Given the description of an element on the screen output the (x, y) to click on. 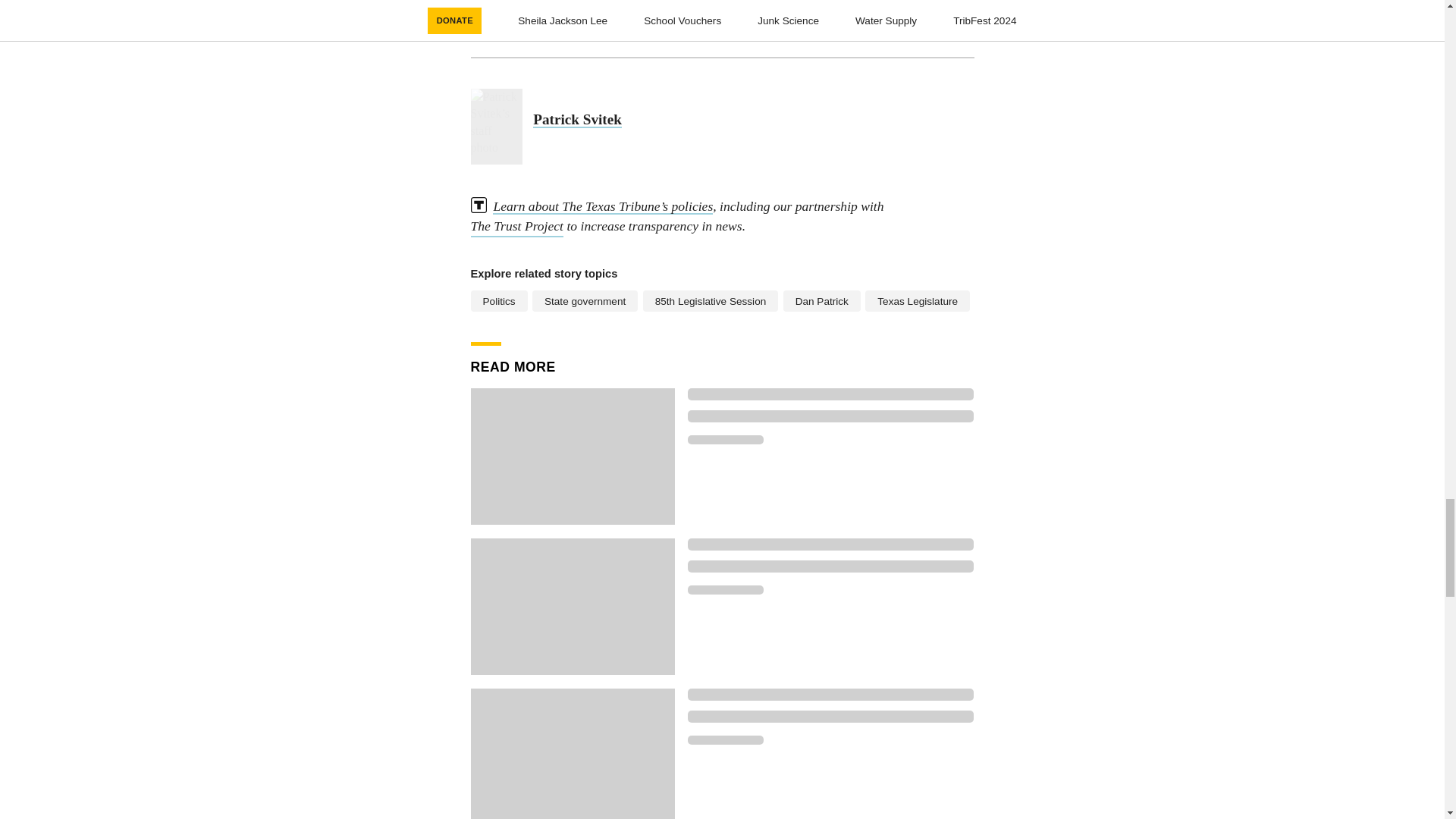
Loading indicator (724, 589)
Loading indicator (830, 566)
Loading indicator (830, 416)
Loading indicator (830, 716)
Loading indicator (830, 694)
Loading indicator (830, 544)
Loading indicator (724, 439)
Loading indicator (830, 394)
Loading indicator (724, 739)
